Given the description of an element on the screen output the (x, y) to click on. 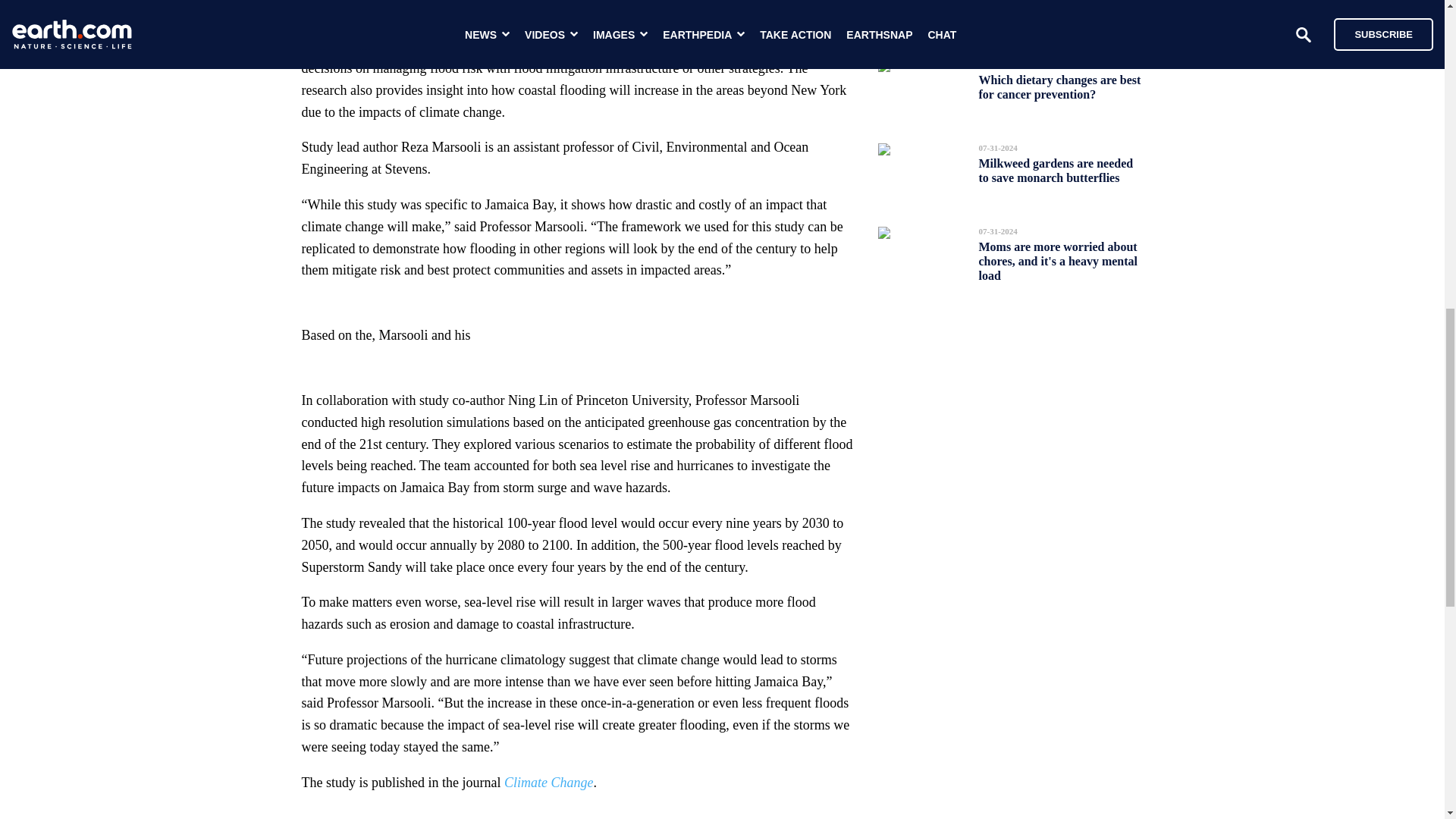
Climate Change (548, 782)
Milkweed gardens are needed to save monarch butterflies (1055, 170)
Which dietary changes are best for cancer prevention? (1059, 87)
Children who eat breakfast are happier in life (1058, 12)
